Given the description of an element on the screen output the (x, y) to click on. 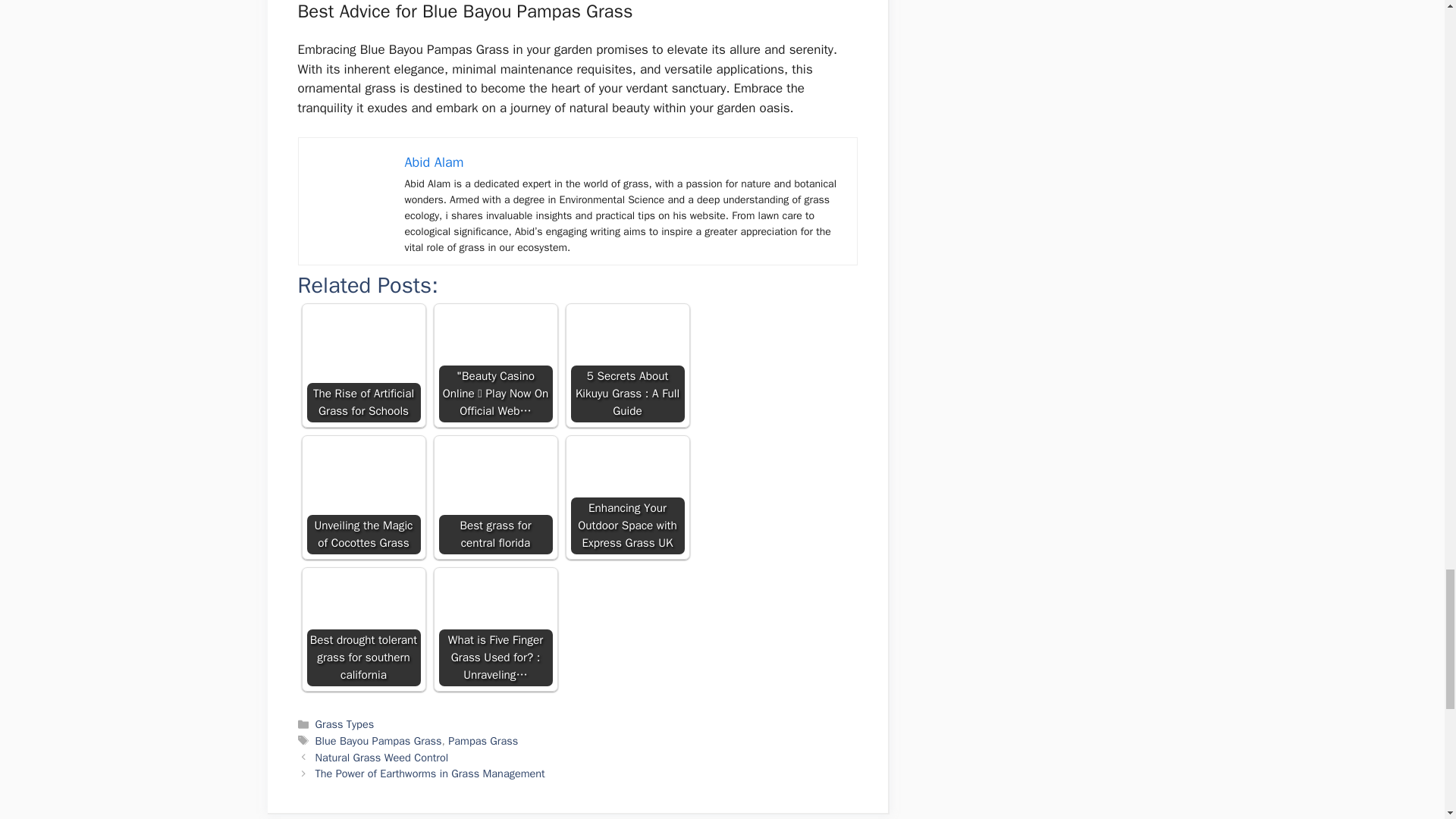
Abid Alam (434, 161)
Blue Bayou Pampas Grass (378, 740)
Natural Grass Weed Control (381, 757)
Best drought tolerant grass for southern california (362, 629)
Pampas Grass (483, 740)
Best drought tolerant grass for southern california (362, 629)
5 Secrets About Kikuyu Grass : A Full Guide (627, 365)
5 Secrets About Kikuyu Grass : A Full Guide (627, 365)
Best grass for central florida (494, 497)
Unveiling the Magic of Cocottes Grass (362, 497)
The Rise of Artificial Grass for Schools (362, 365)
Enhancing Your Outdoor Space with Express Grass UK (627, 497)
Best grass for central florida (494, 497)
The Rise of Artificial Grass for Schools (362, 365)
